Given the description of an element on the screen output the (x, y) to click on. 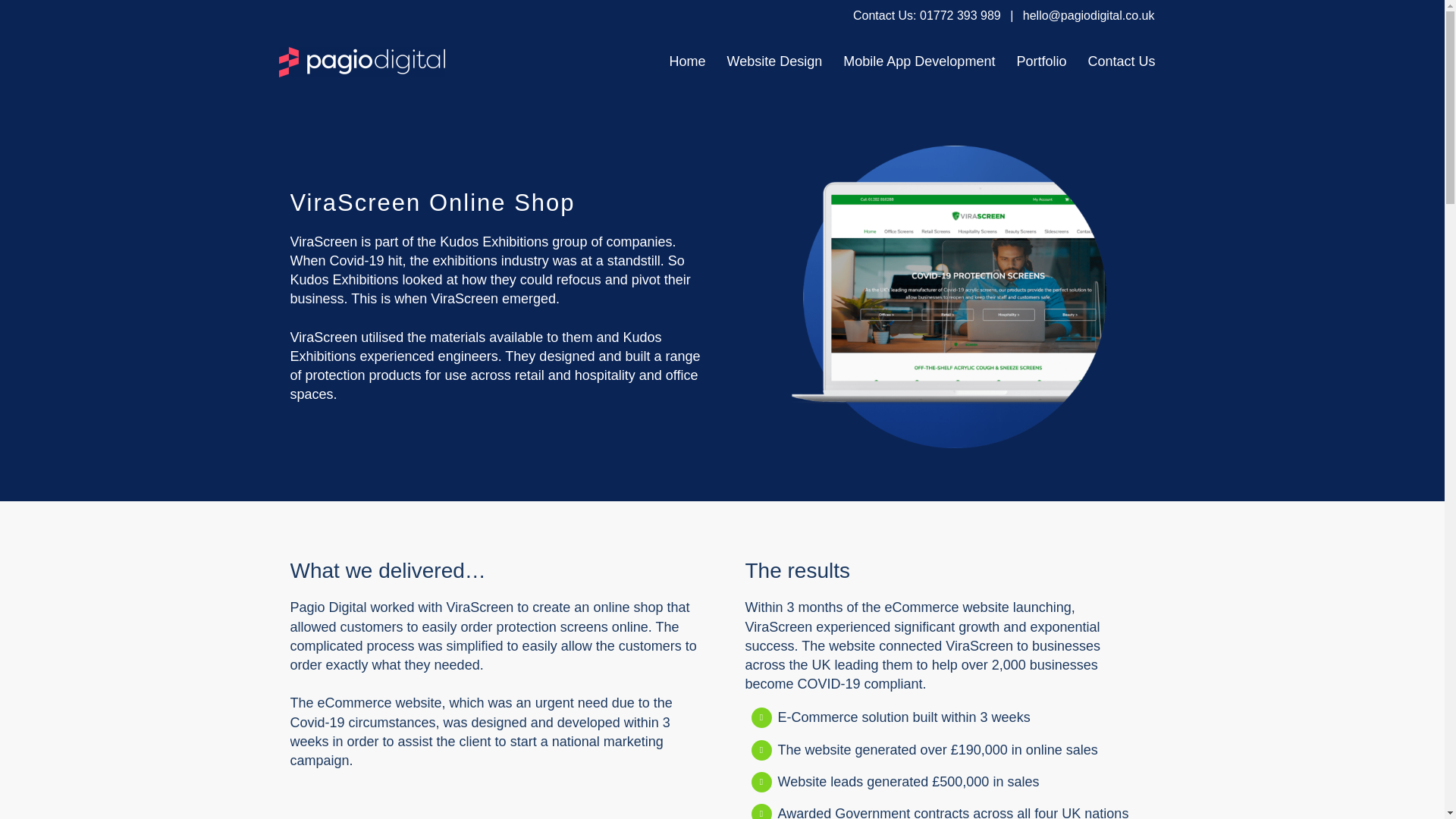
Contact Us (1120, 61)
Mobile App Development (919, 61)
Website Design (774, 61)
Home (687, 61)
Portfolio (1041, 61)
Virascreen-hero-min-600x560.png (943, 296)
